Given the description of an element on the screen output the (x, y) to click on. 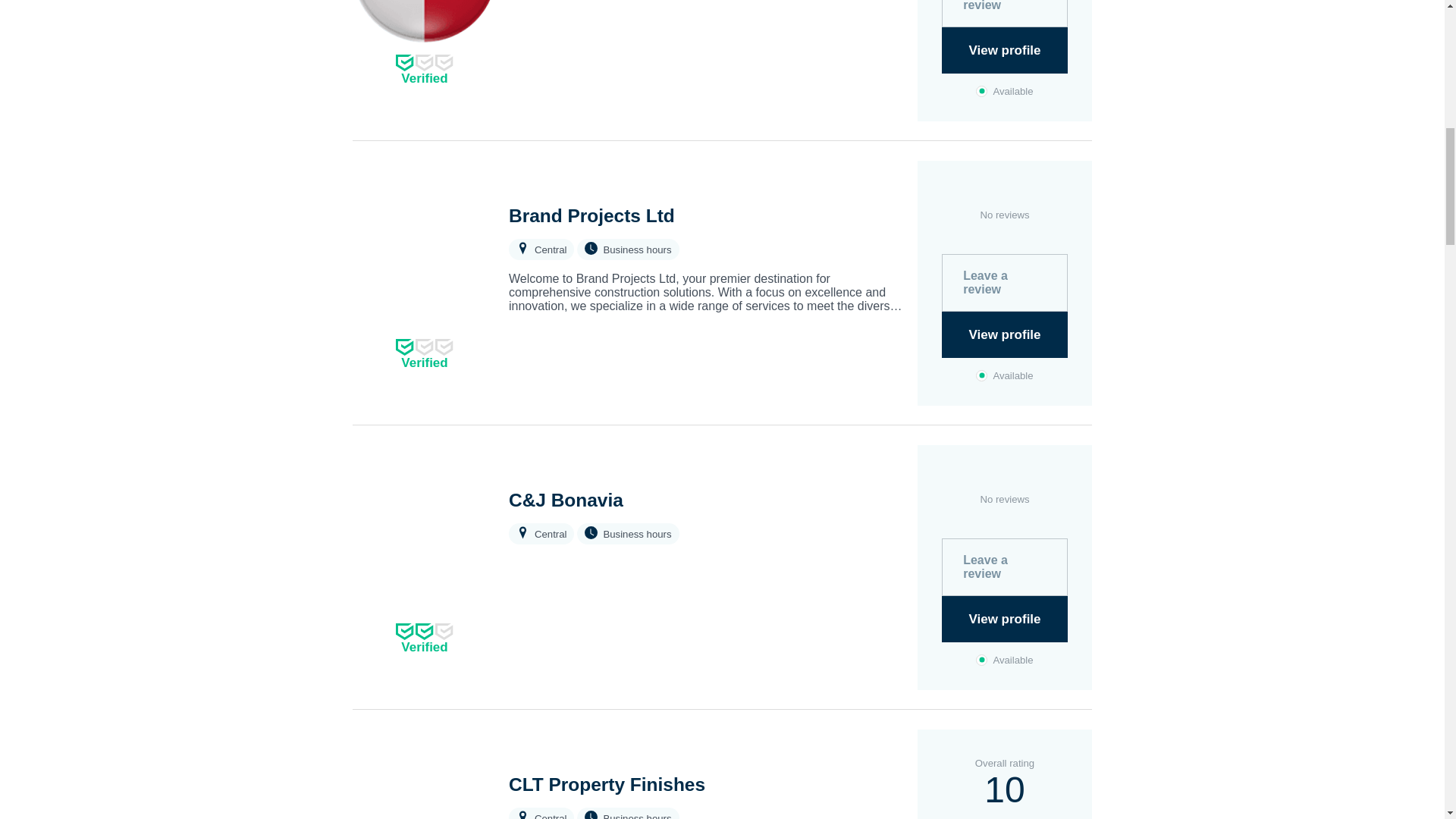
Leave a review (1004, 282)
View profile (1004, 50)
Leave a review (1004, 13)
